Given the description of an element on the screen output the (x, y) to click on. 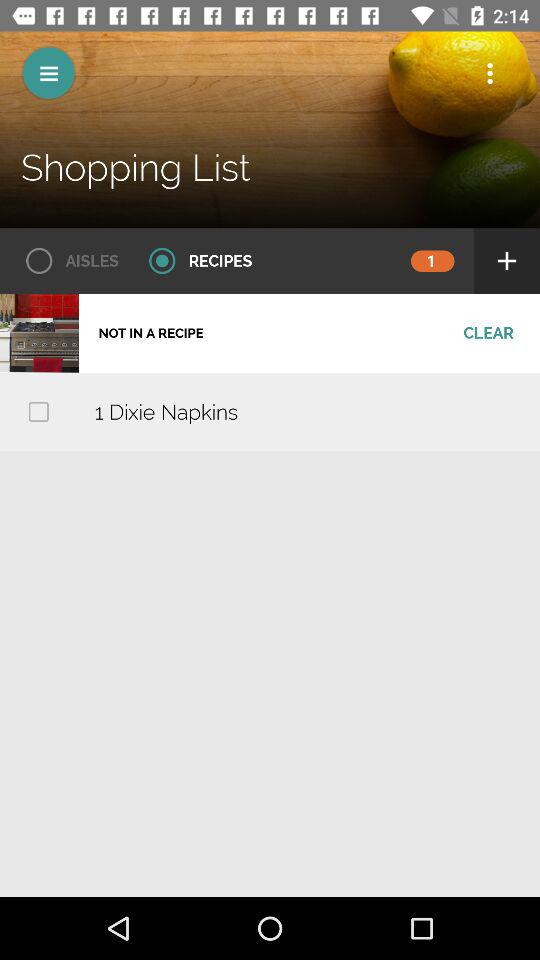
open icon next to the 1 dixie napkins item (38, 411)
